Given the description of an element on the screen output the (x, y) to click on. 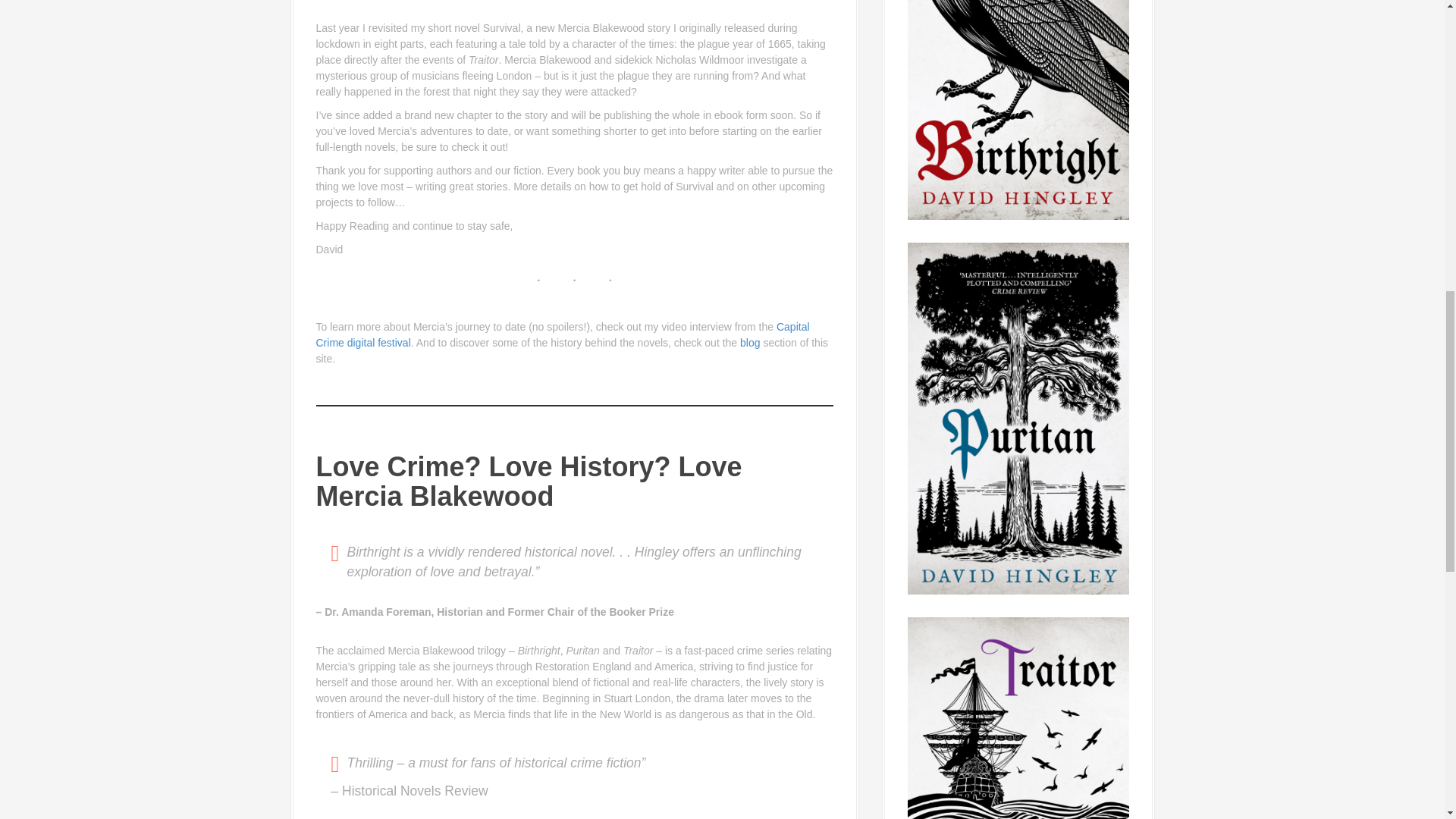
Capital Crime digital festival (562, 334)
blog (749, 342)
